Given the description of an element on the screen output the (x, y) to click on. 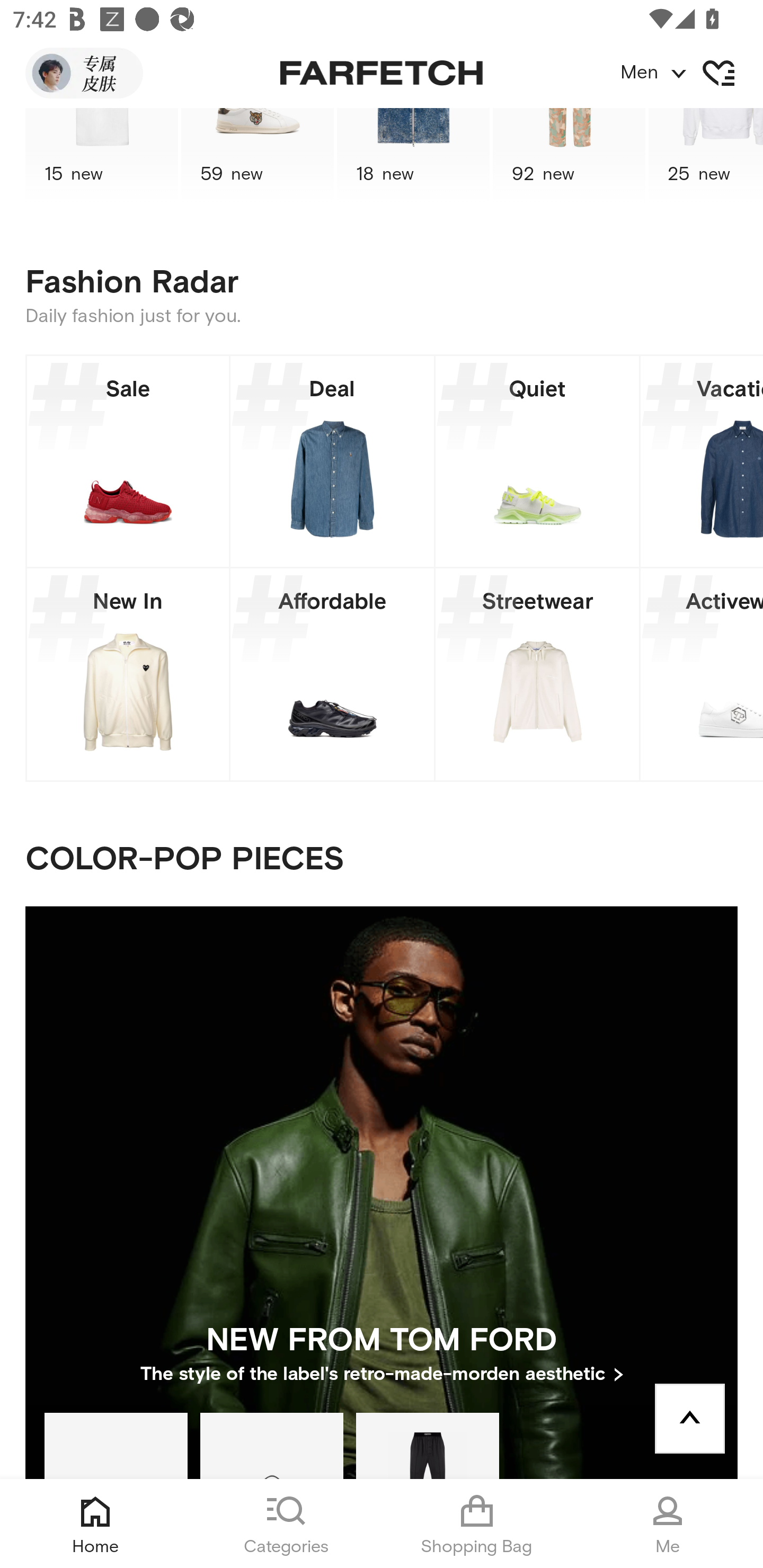
Men (691, 72)
15  new (101, 156)
59  new (257, 156)
18  new (413, 156)
92  new (568, 156)
25  new (705, 156)
Sale (127, 460)
Deal (332, 460)
Quiet (537, 460)
Vacation (701, 460)
New In (127, 673)
Affordable (332, 673)
Streetwear (537, 673)
Activewear (701, 673)
TOM FORD (427, 1445)
Categories (285, 1523)
Shopping Bag (476, 1523)
Me (667, 1523)
